Given the description of an element on the screen output the (x, y) to click on. 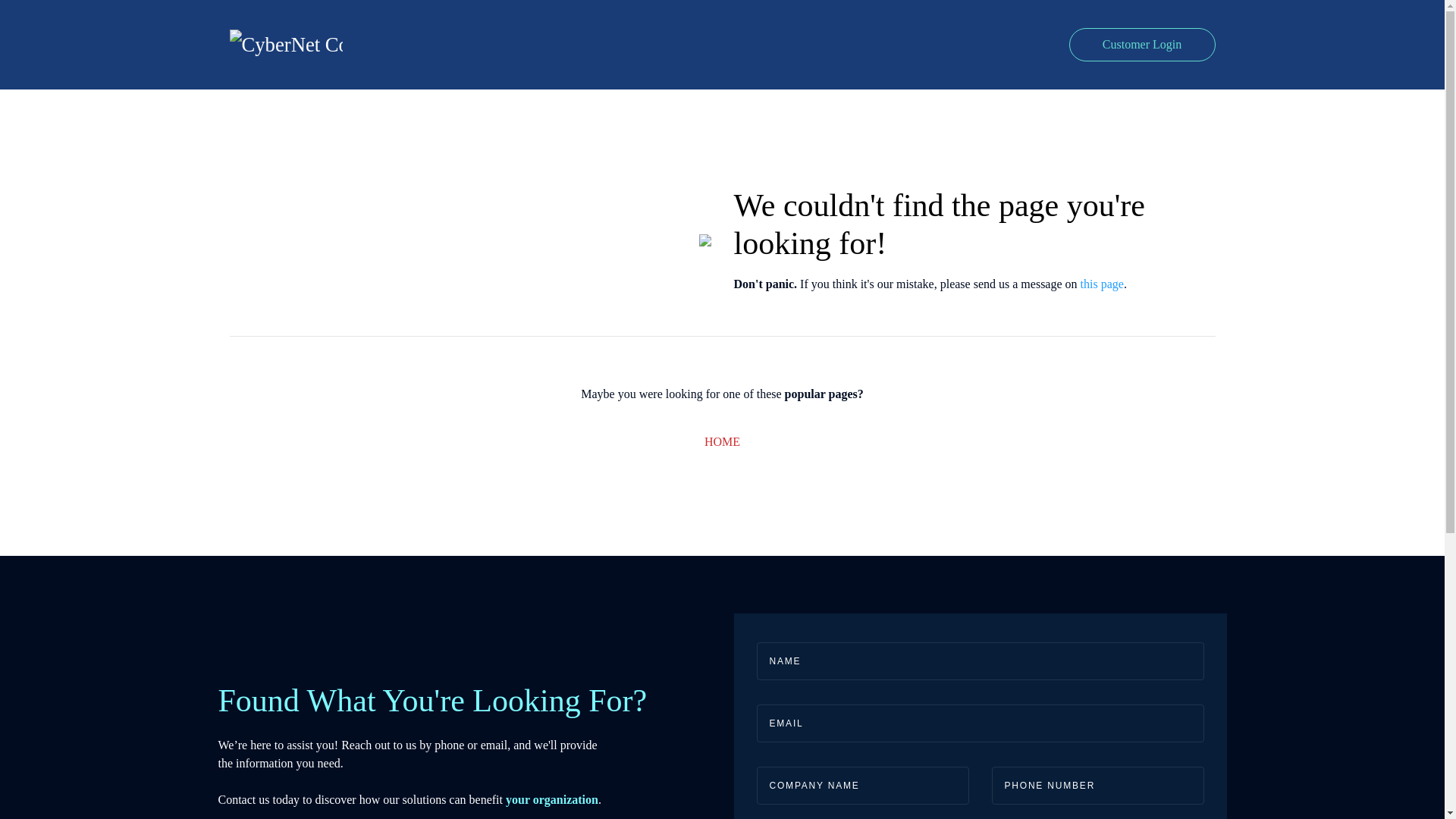
Customer Login (1141, 44)
HOME (722, 441)
this page (1102, 283)
CyberNet Communications (285, 44)
